Given the description of an element on the screen output the (x, y) to click on. 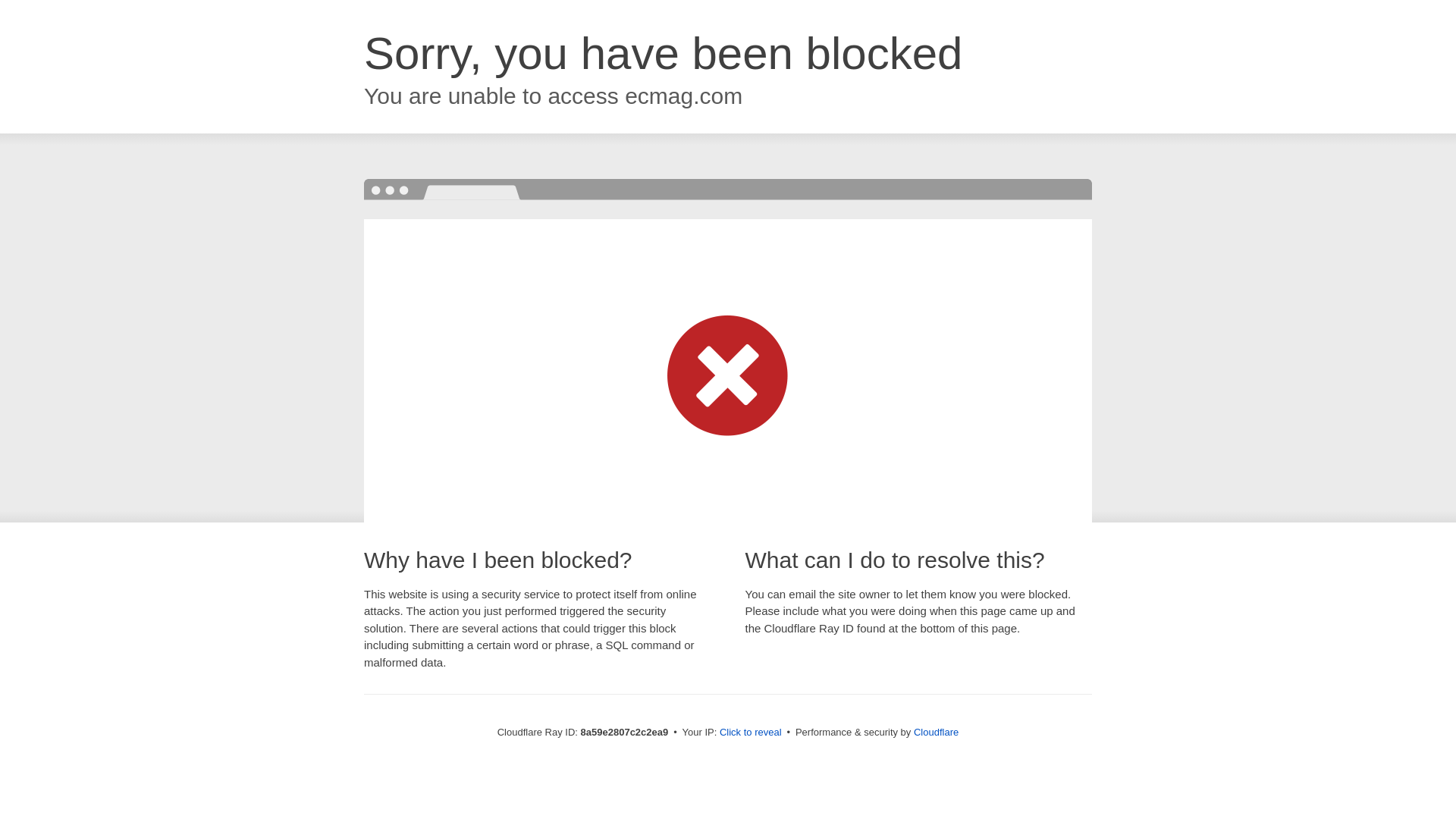
Cloudflare (936, 731)
Click to reveal (750, 732)
